Given the description of an element on the screen output the (x, y) to click on. 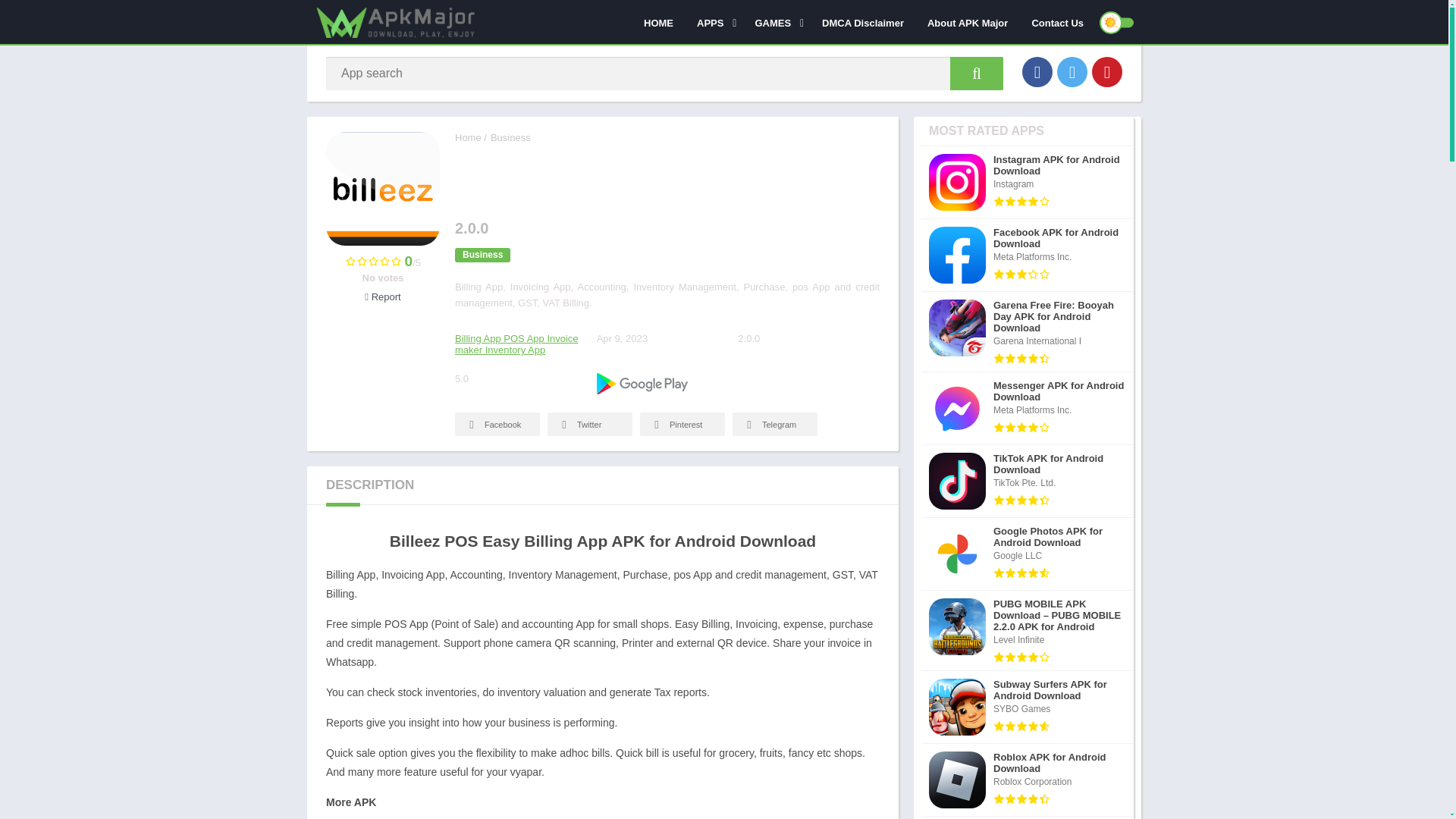
App search (976, 73)
Pinterest (1107, 71)
GAMES (775, 22)
APPS (713, 22)
About APK Major (967, 22)
Contact Us (1057, 22)
ApkMajor (467, 137)
Facebook (1037, 71)
HOME (657, 22)
DMCA Disclaimer (862, 22)
